Given the description of an element on the screen output the (x, y) to click on. 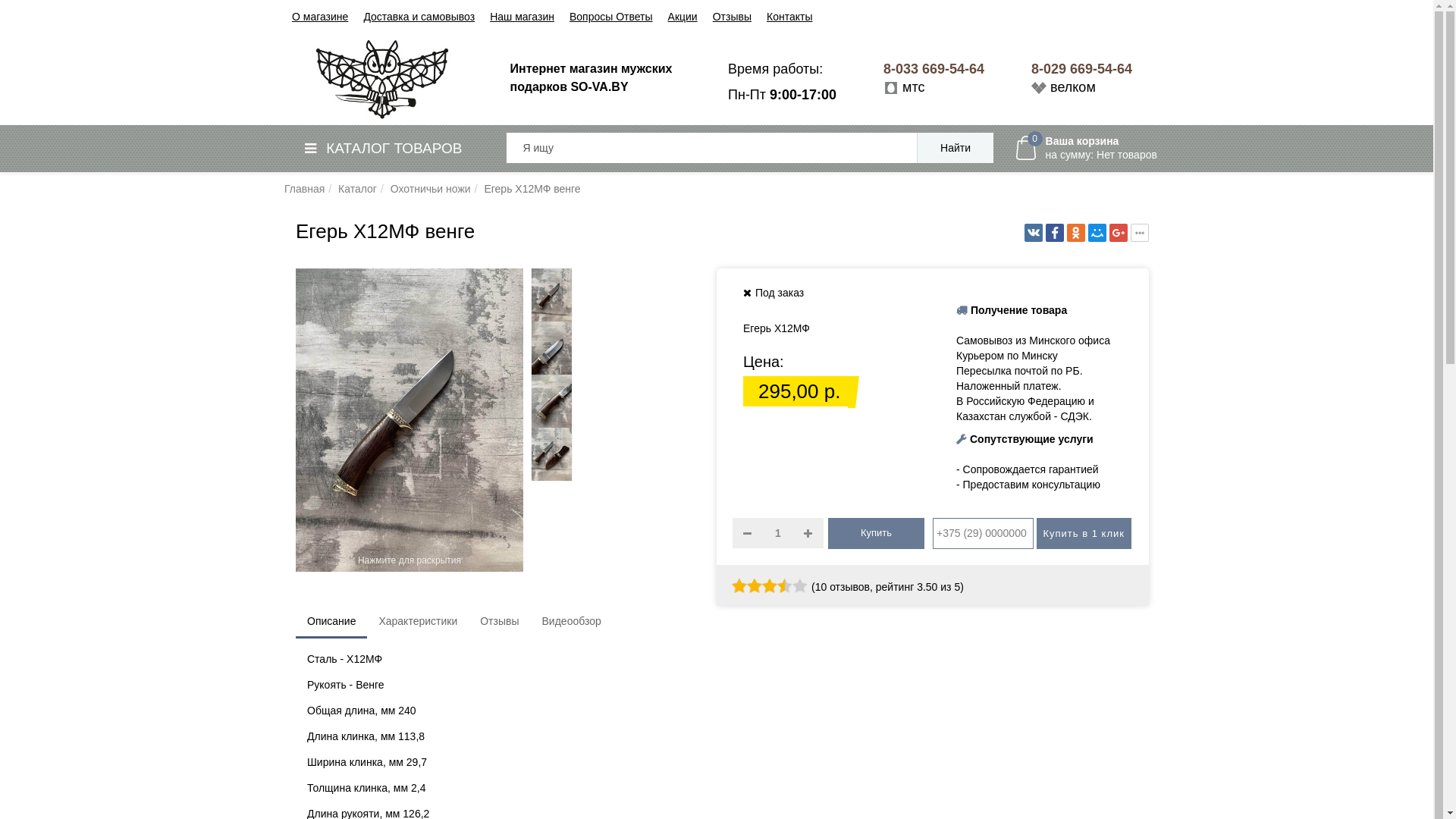
Facebook Element type: hover (1054, 232)
8-033 669-54-64 Element type: text (933, 68)
Google+ Element type: hover (1118, 232)
8-029 669-54-64 Element type: text (1081, 68)
4 Element type: text (761, 585)
1391.jpg_product Element type: hover (551, 400)
1 Element type: text (738, 585)
5 Element type: text (769, 585)
2 Element type: text (746, 585)
1391.jpg_product Element type: hover (551, 453)
3 Element type: text (754, 585)
1391.jpg_product Element type: hover (551, 347)
1391.jpg Element type: hover (551, 294)
